Given the description of an element on the screen output the (x, y) to click on. 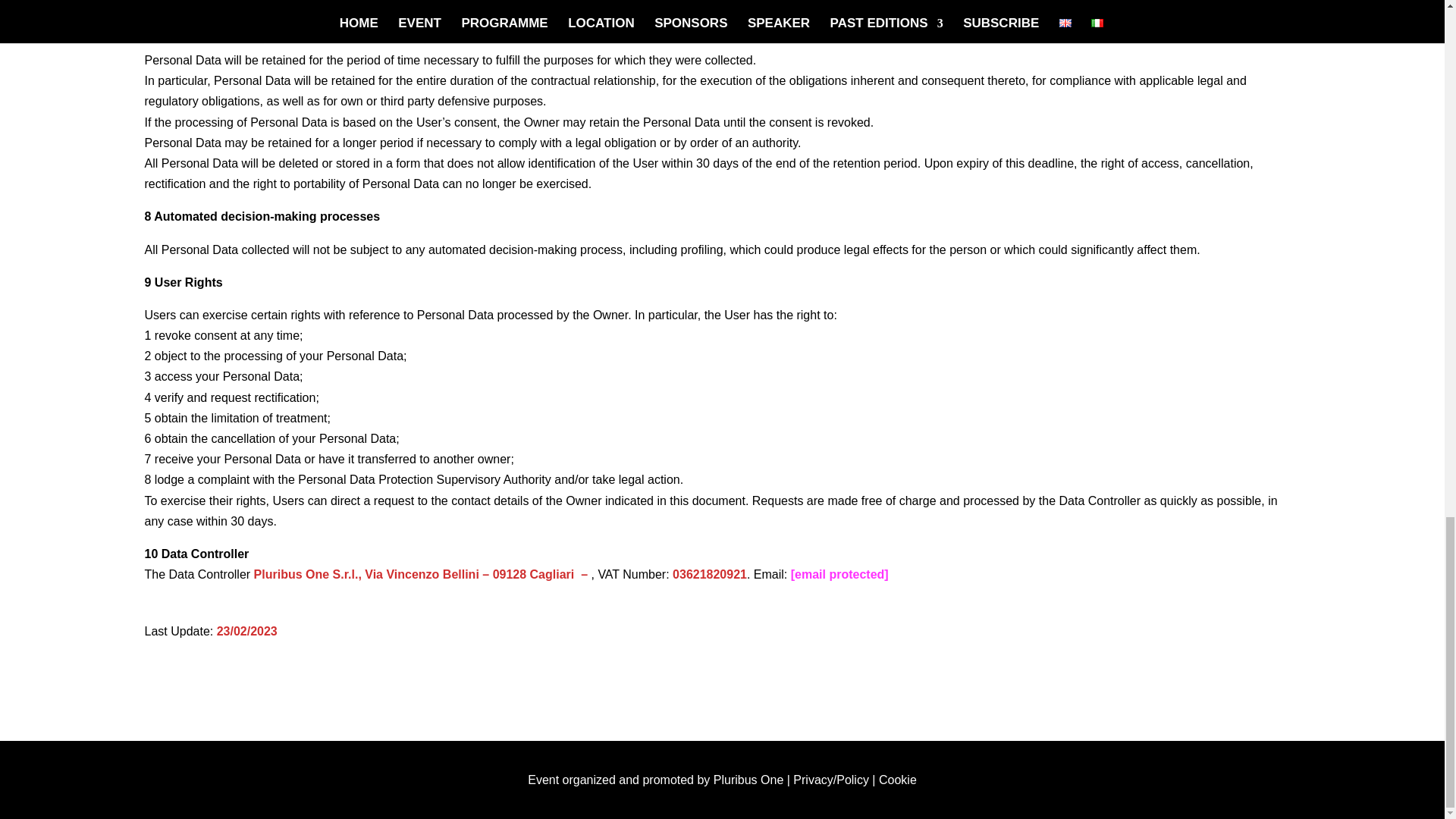
Cookie (898, 779)
